Given the description of an element on the screen output the (x, y) to click on. 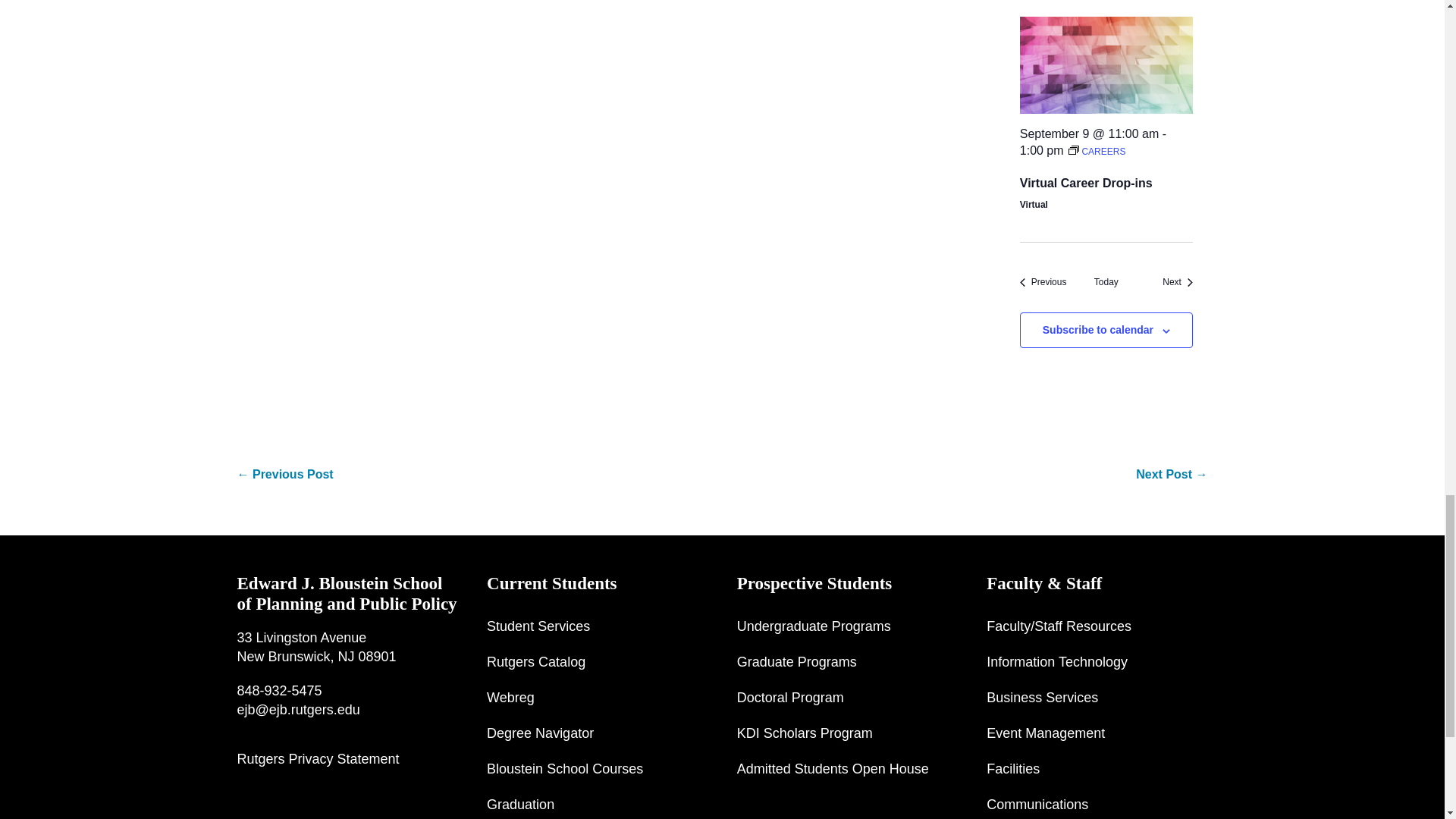
Event Series (1073, 149)
Virtual Career Drop-ins (1106, 64)
